Given the description of an element on the screen output the (x, y) to click on. 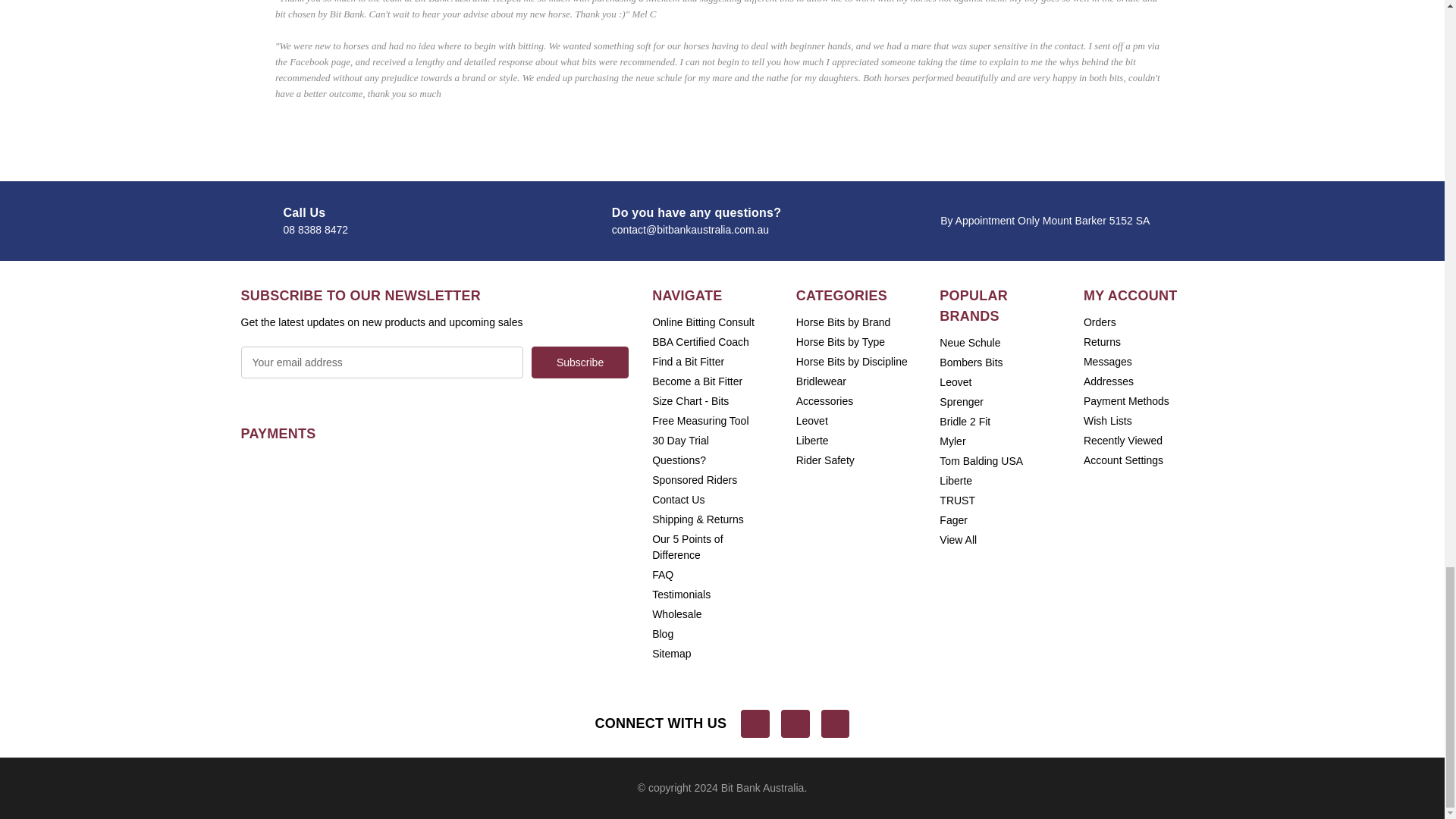
Youtube (794, 724)
Facebook (755, 724)
Subscribe (579, 362)
Instagram (835, 724)
